Given the description of an element on the screen output the (x, y) to click on. 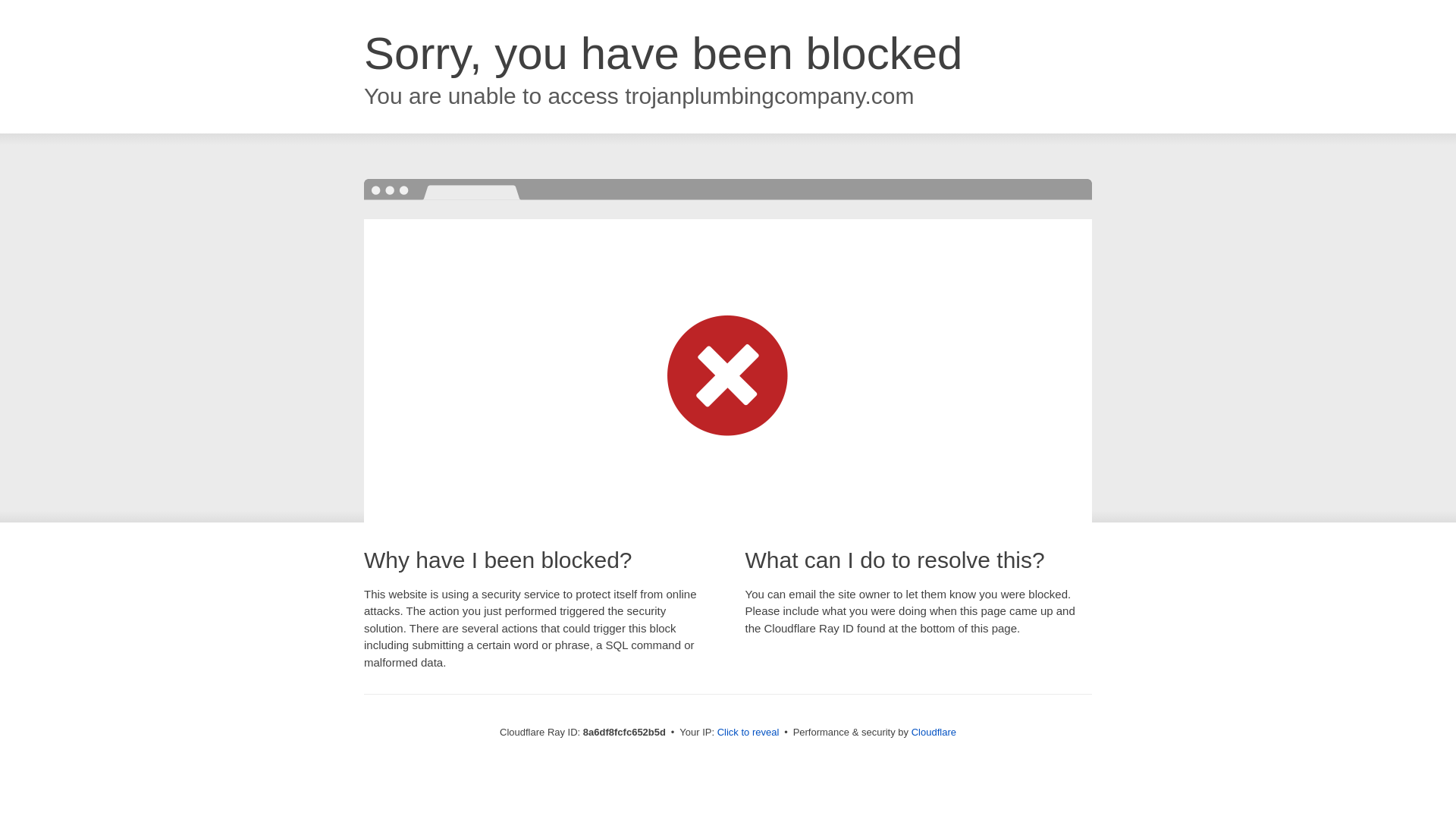
Click to reveal (747, 732)
Cloudflare (933, 731)
